Given the description of an element on the screen output the (x, y) to click on. 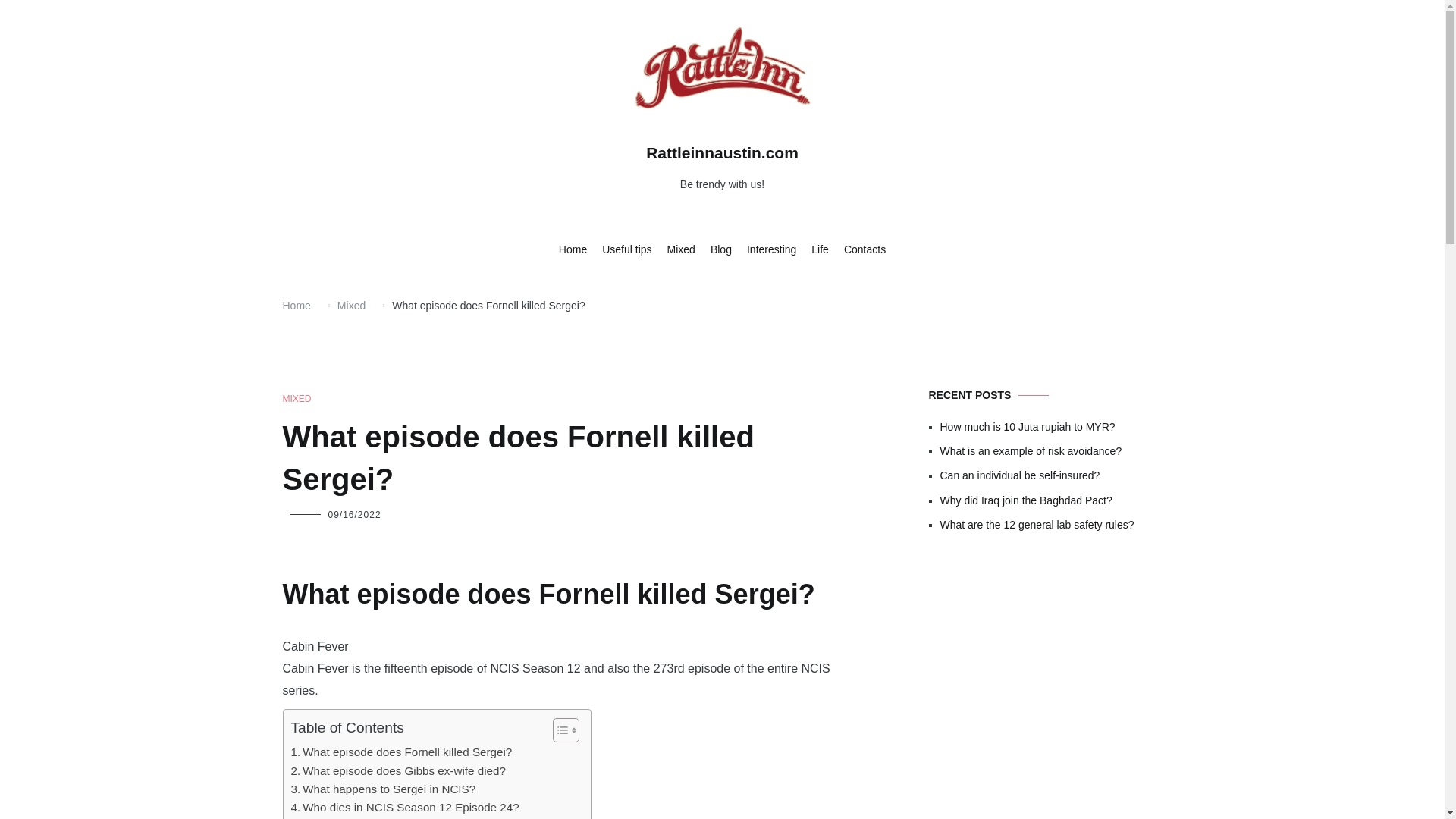
Contacts (864, 249)
Interesting (771, 249)
Who dies in NCIS Season 12 Episode 24? (405, 807)
What happens to Sergei in NCIS? (383, 789)
Rattleinnaustin.com (721, 152)
What episode does Gibbs ex-wife died? (398, 771)
What episode does Fornell killed Sergei? (401, 751)
Who dies in NCIS Season 12 Episode 24? (405, 807)
Home (296, 305)
Useful tips (626, 249)
Mixed (351, 305)
MIXED (296, 399)
What episode does Gibbs ex-wife died? (398, 771)
